Given the description of an element on the screen output the (x, y) to click on. 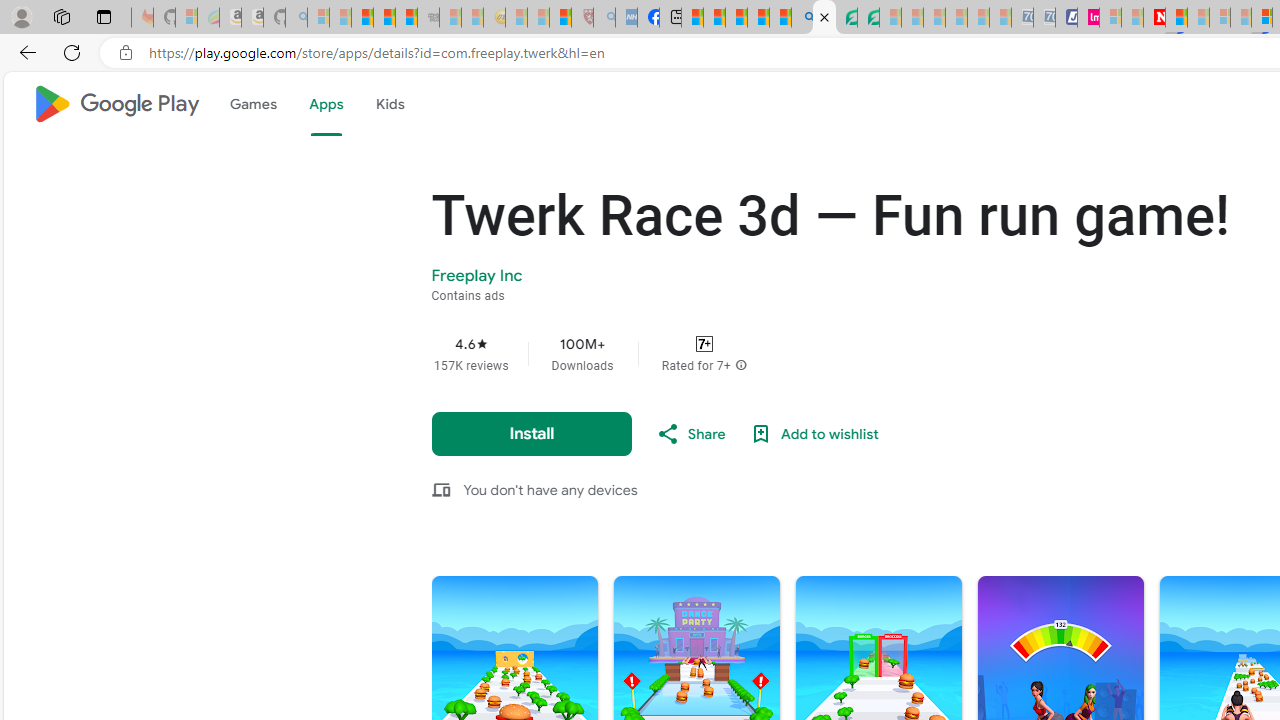
Freeplay Inc (477, 275)
Kids (389, 104)
More info about this content rating (740, 365)
Games (252, 104)
